Given the description of an element on the screen output the (x, y) to click on. 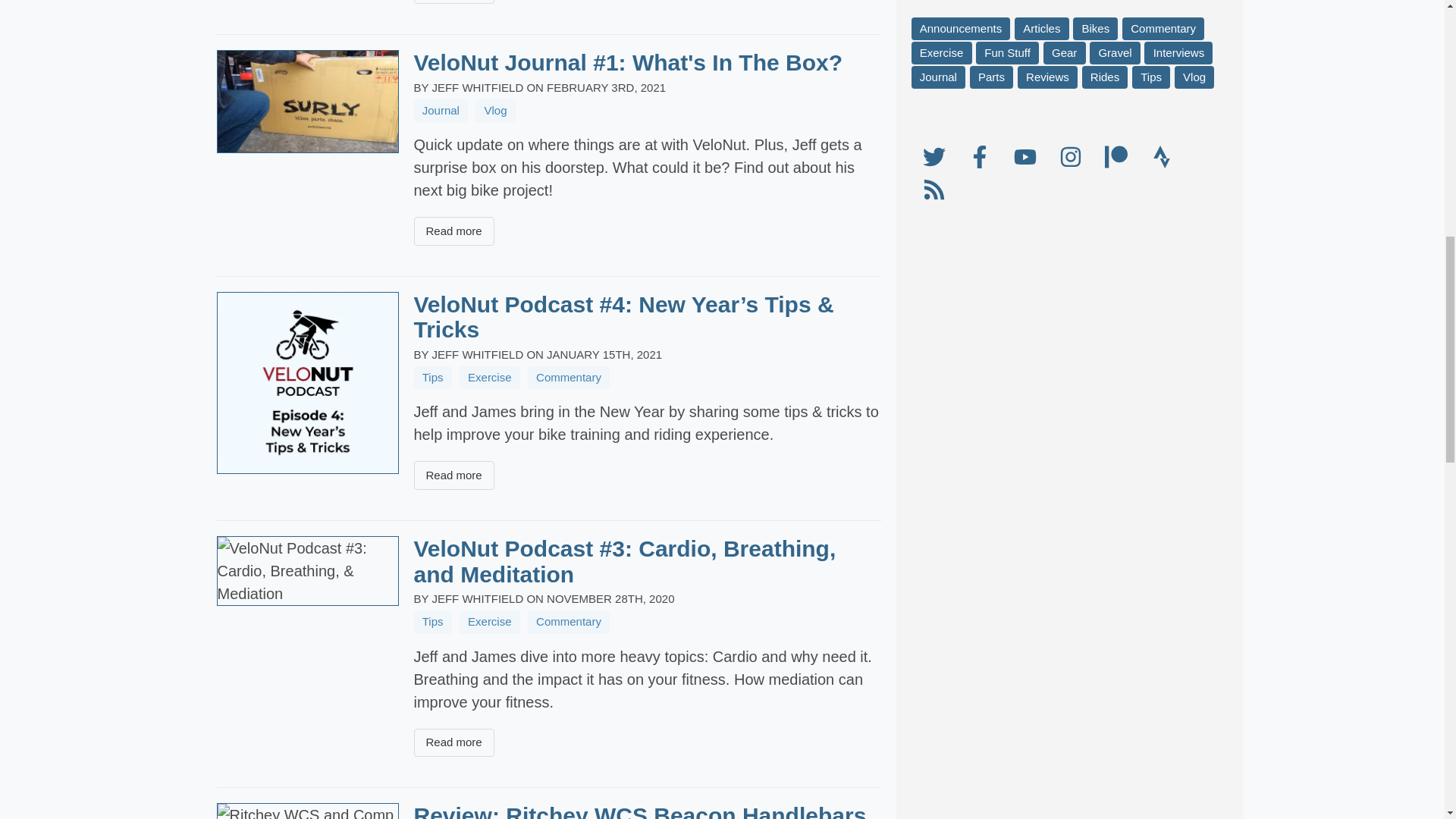
Read more (454, 231)
Exercise (489, 621)
Read more (454, 742)
Journal (440, 110)
Read more (454, 2)
Tips (432, 377)
Review: Ritchey WCS Beacon Handlebars (639, 811)
Exercise (489, 377)
Commentary (568, 377)
Vlog (495, 110)
